Given the description of an element on the screen output the (x, y) to click on. 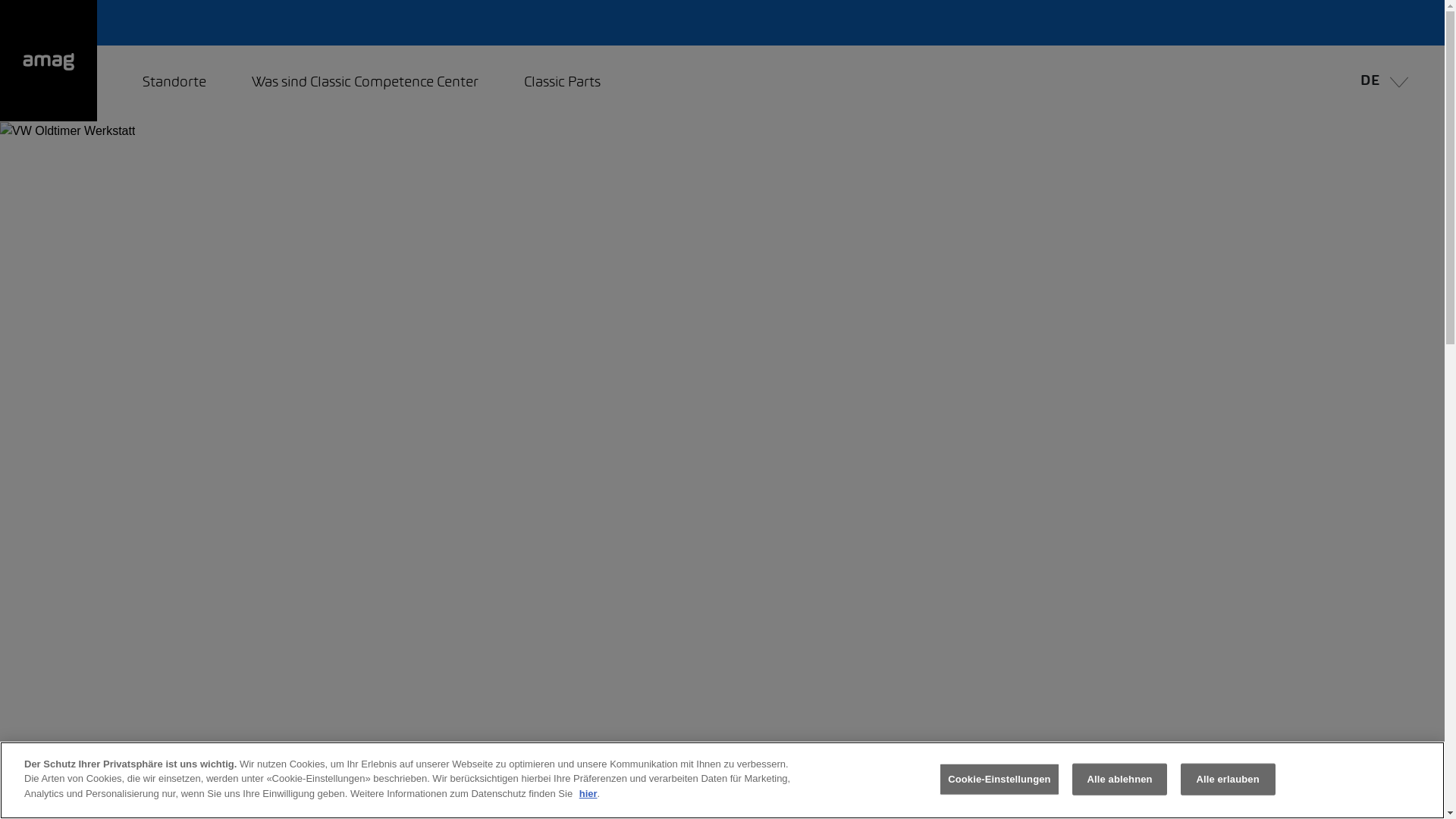
hier Element type: text (588, 793)
DE Element type: text (1380, 83)
Standorte Element type: text (174, 83)
Alle erlauben Element type: text (1227, 779)
Cookie-Einstellungen Element type: text (999, 779)
Alle ablehnen Element type: text (1119, 779)
Was sind Classic Competence Center Element type: text (365, 83)
Classic Parts Element type: text (562, 83)
